Given the description of an element on the screen output the (x, y) to click on. 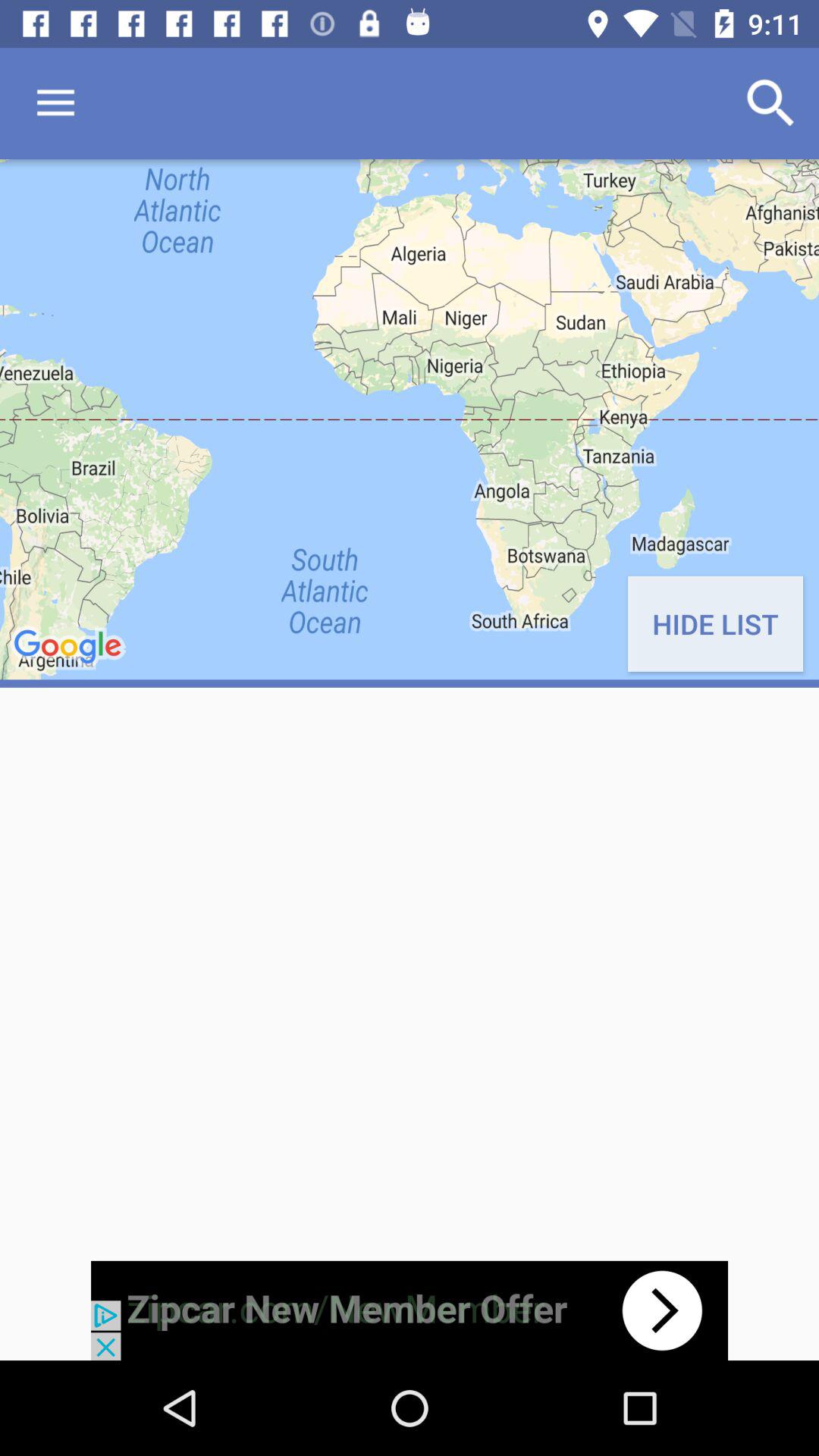
press icon at the top left corner (55, 103)
